Given the description of an element on the screen output the (x, y) to click on. 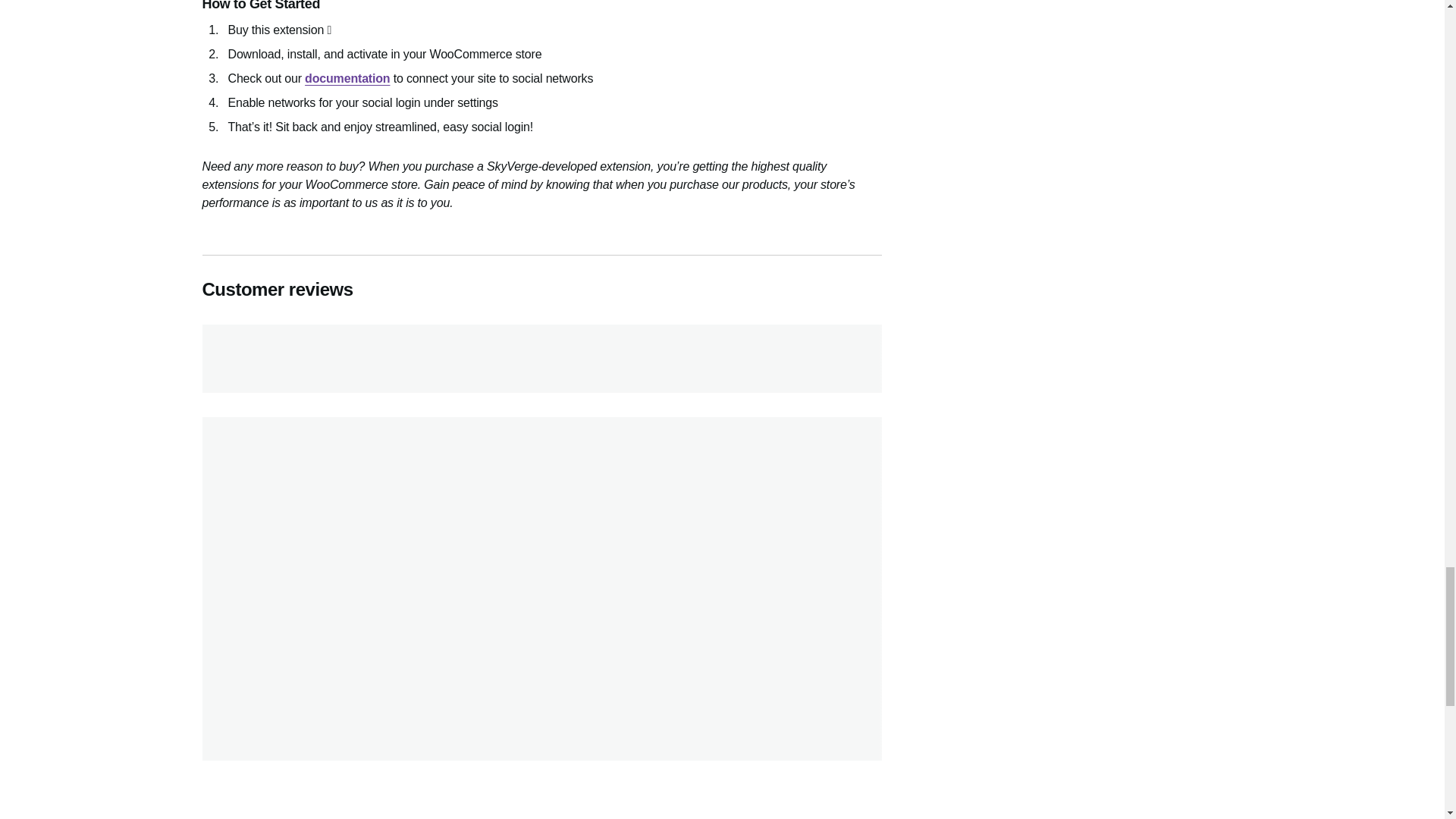
documentation (347, 78)
